Given the description of an element on the screen output the (x, y) to click on. 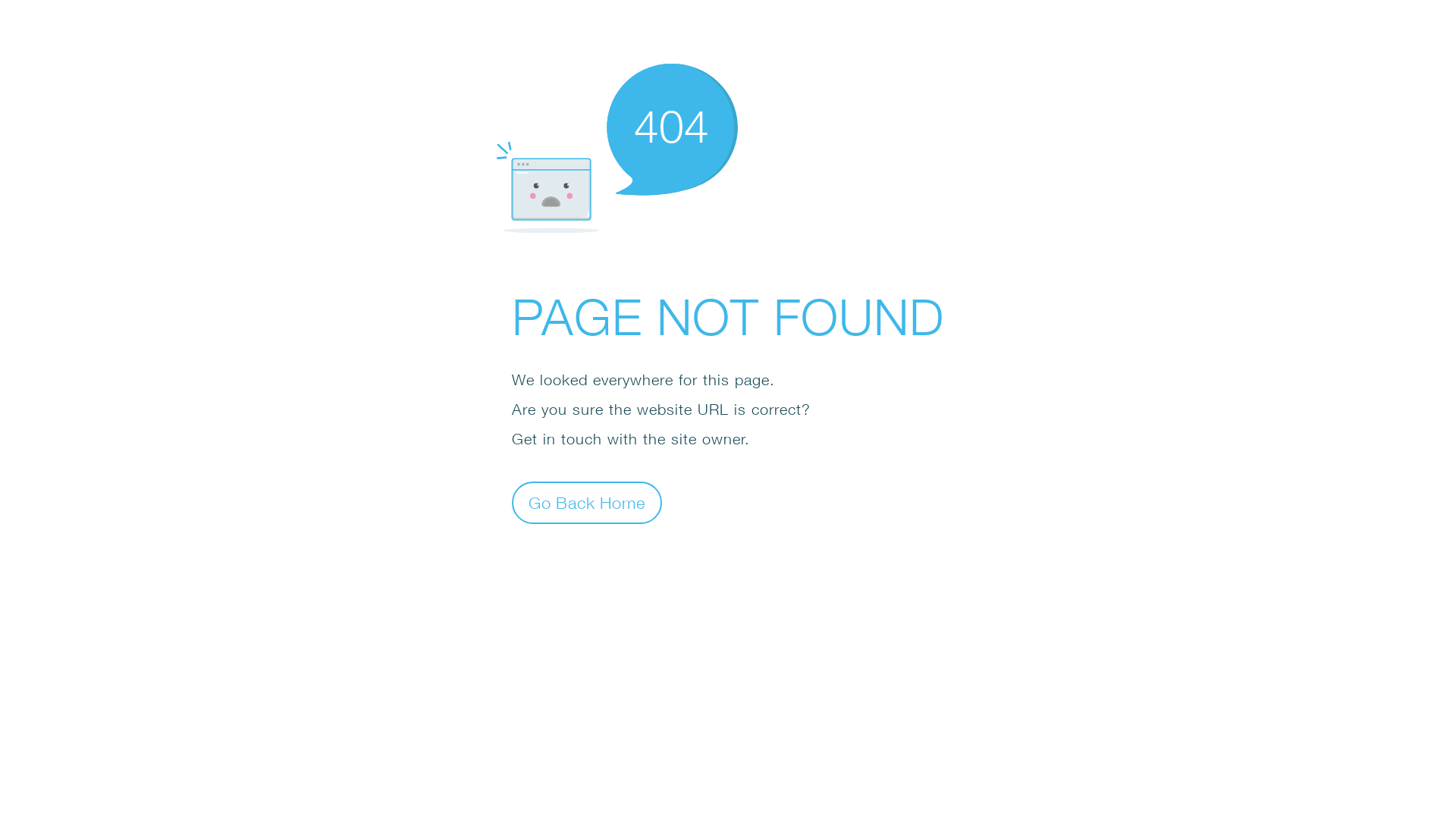
Go Back Home Element type: text (586, 502)
